Given the description of an element on the screen output the (x, y) to click on. 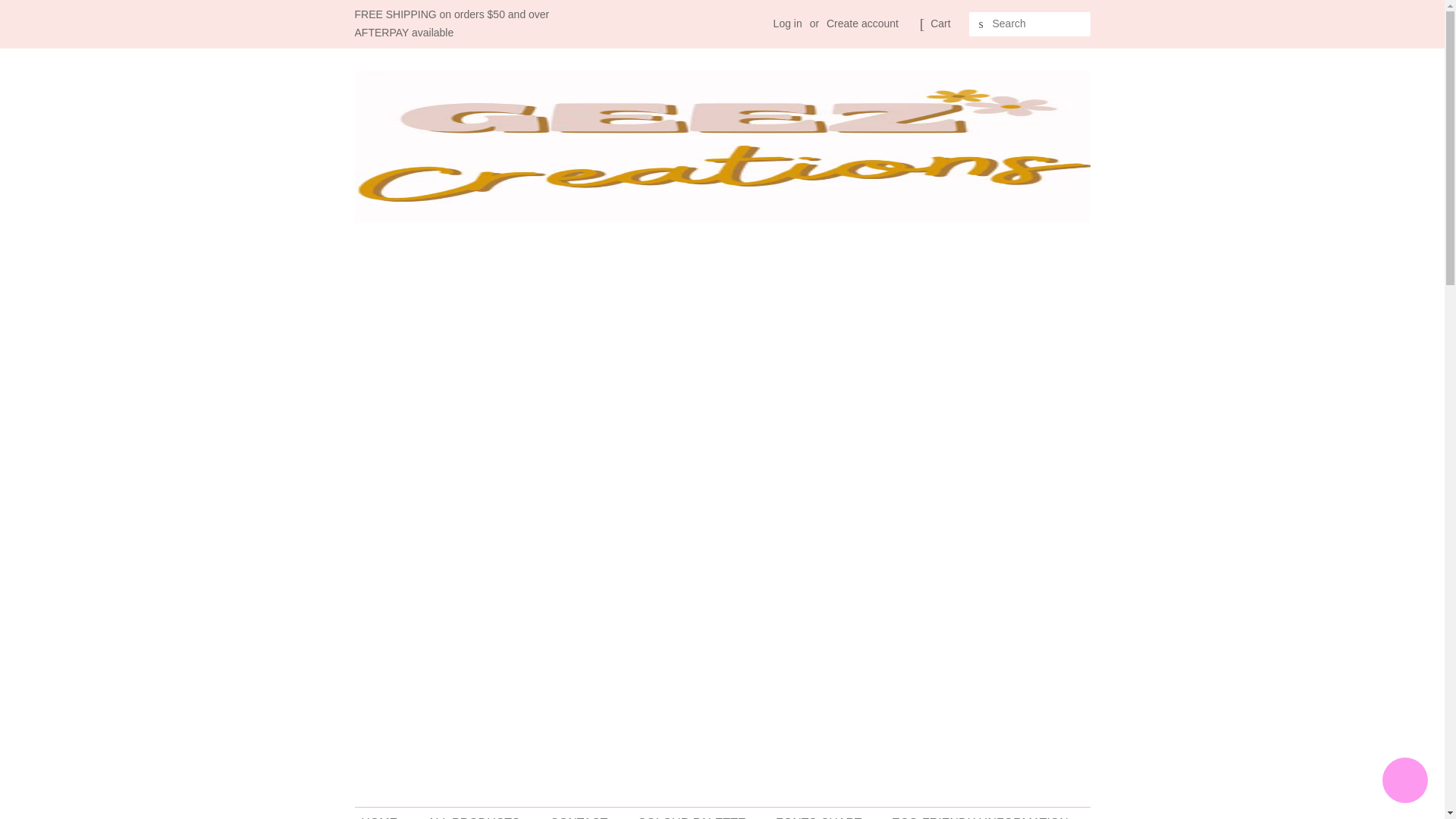
FONTS CHART (820, 813)
ECO-FRIENDLY INFORMATION (981, 813)
COLOUR PALETTE (693, 813)
SEARCH (980, 24)
Log in (787, 23)
Shopify online store chat (1404, 781)
Cart (940, 24)
HOME (386, 813)
ALL PRODUCTS (475, 813)
CONTACT (580, 813)
